Given the description of an element on the screen output the (x, y) to click on. 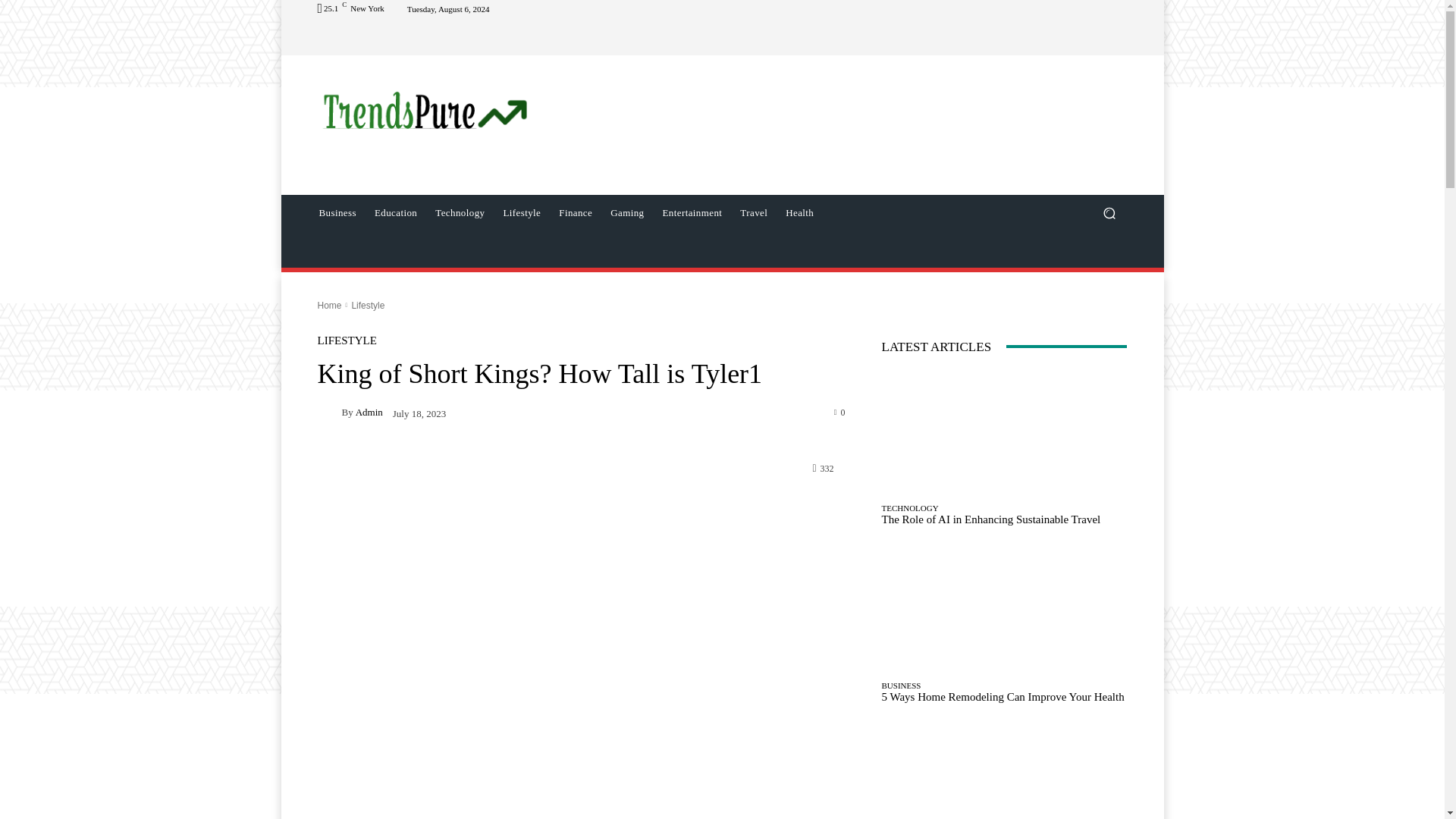
Lifestyle (521, 212)
Admin (368, 411)
Home (328, 305)
Finance (575, 212)
Business (336, 212)
Technology (459, 212)
Health (799, 212)
LIFESTYLE (346, 340)
View all posts in Lifestyle (367, 305)
Entertainment (692, 212)
0 (839, 411)
Education (395, 212)
admin (328, 412)
Gaming (626, 212)
Travel (753, 212)
